Given the description of an element on the screen output the (x, y) to click on. 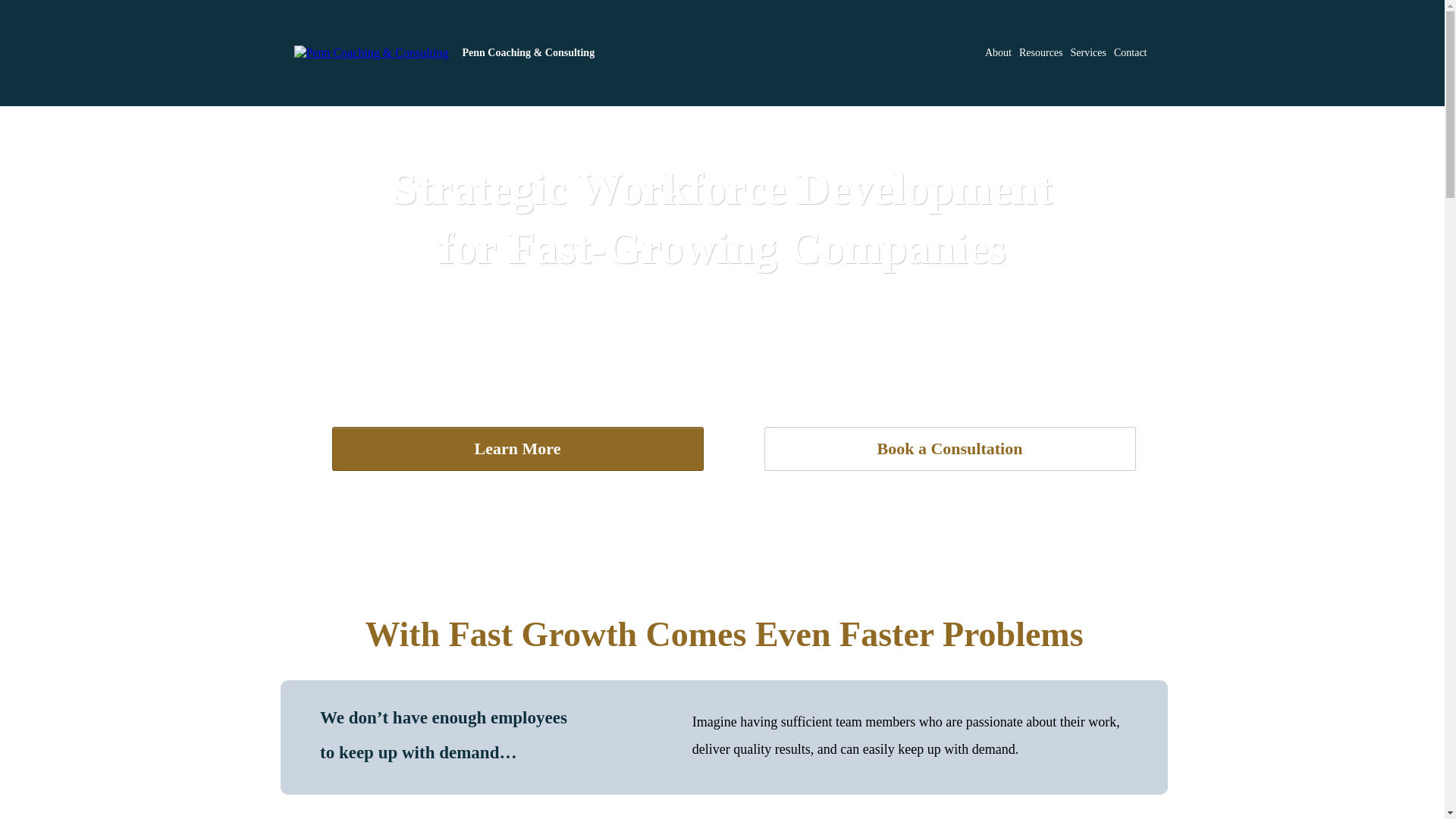
Services (1088, 53)
Learn More (517, 448)
Contact (1130, 53)
Resources (1040, 53)
Book a Consultation (949, 448)
About (997, 53)
